Given the description of an element on the screen output the (x, y) to click on. 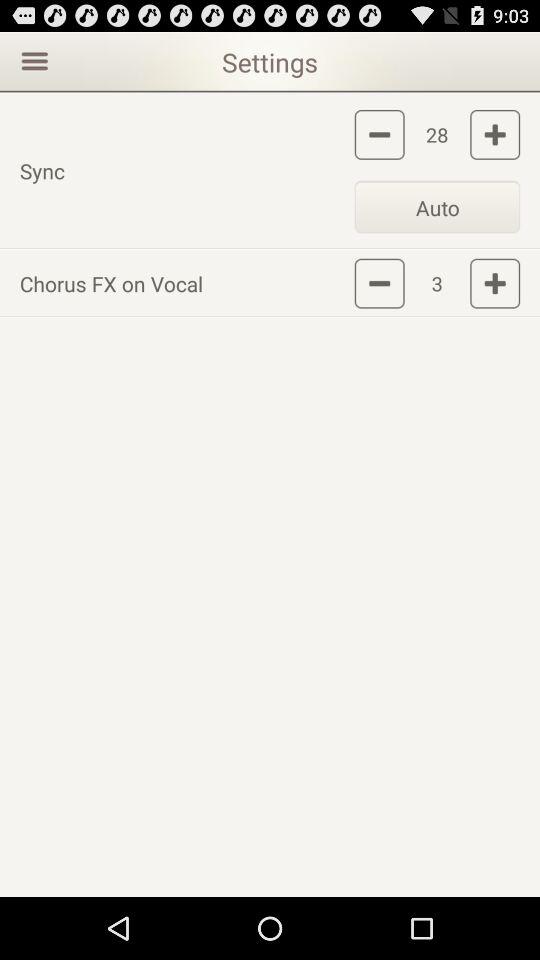
increment one more (495, 134)
